Given the description of an element on the screen output the (x, y) to click on. 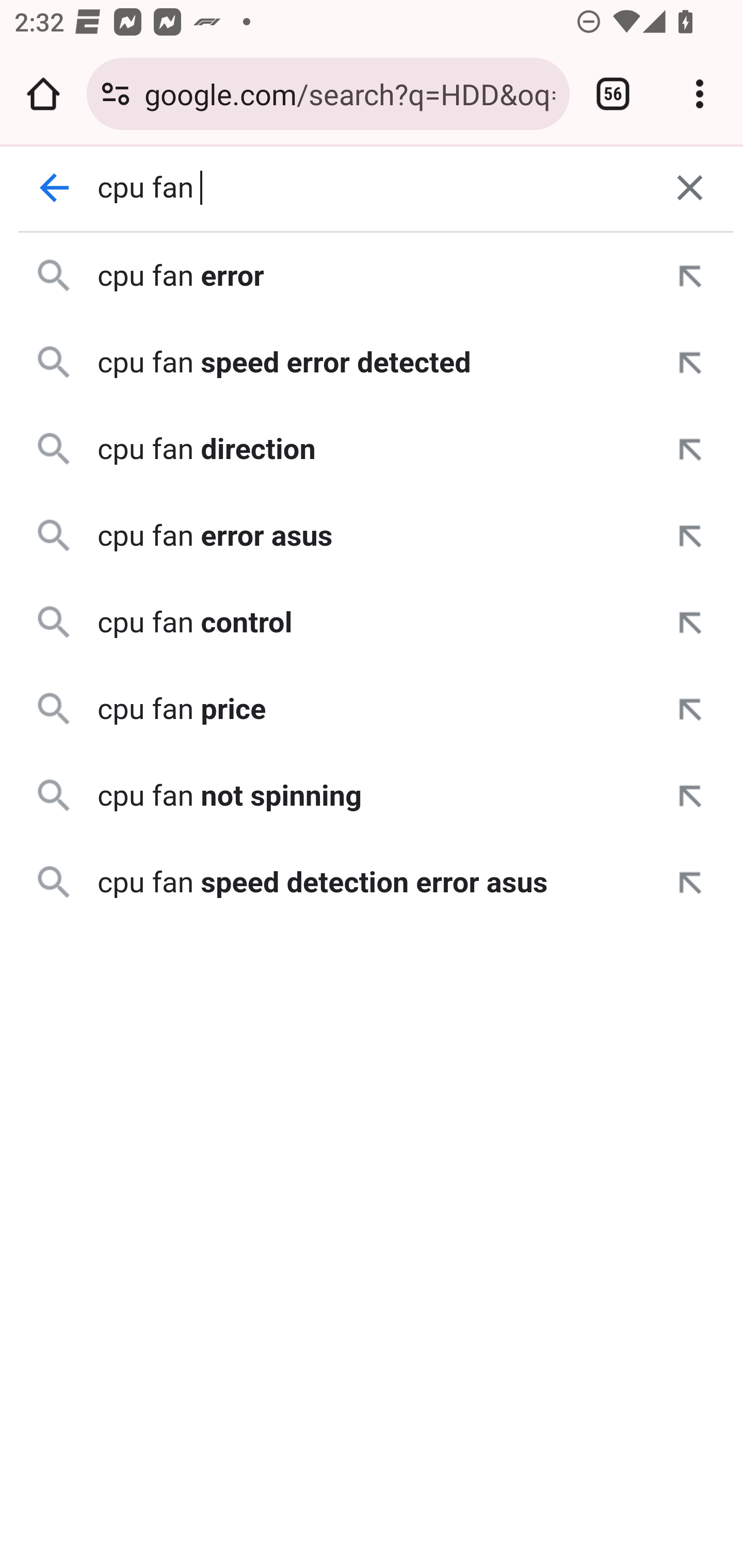
Open the home page (43, 93)
Connection is secure (115, 93)
Switch or close tabs (612, 93)
Customize and control Google Chrome (699, 93)
Back (54, 188)
Clear Search (690, 188)
cpu fan  (372, 188)
